Given the description of an element on the screen output the (x, y) to click on. 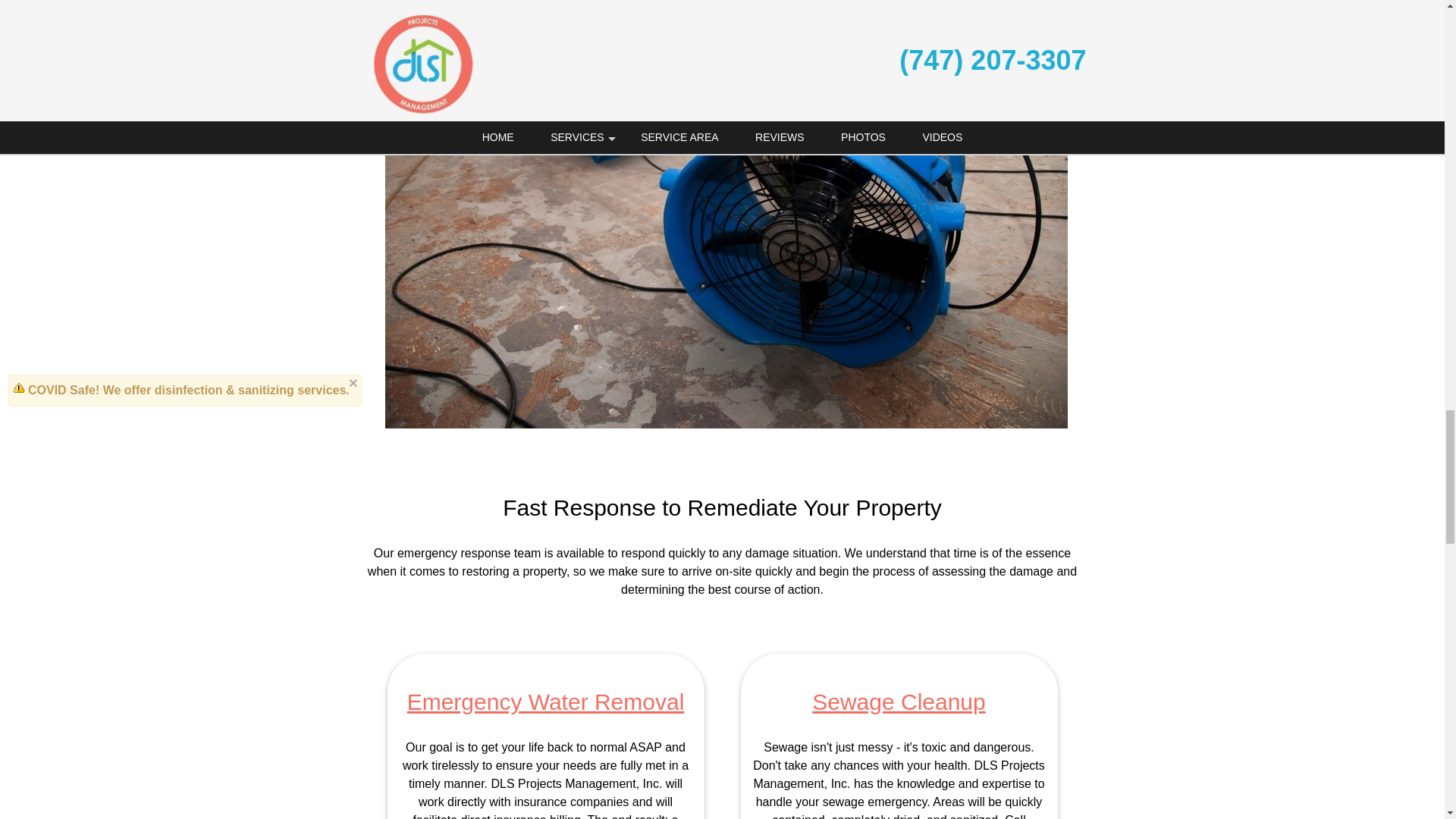
Emergency Water Removal (545, 701)
Sewage Cleanup (898, 701)
